Given the description of an element on the screen output the (x, y) to click on. 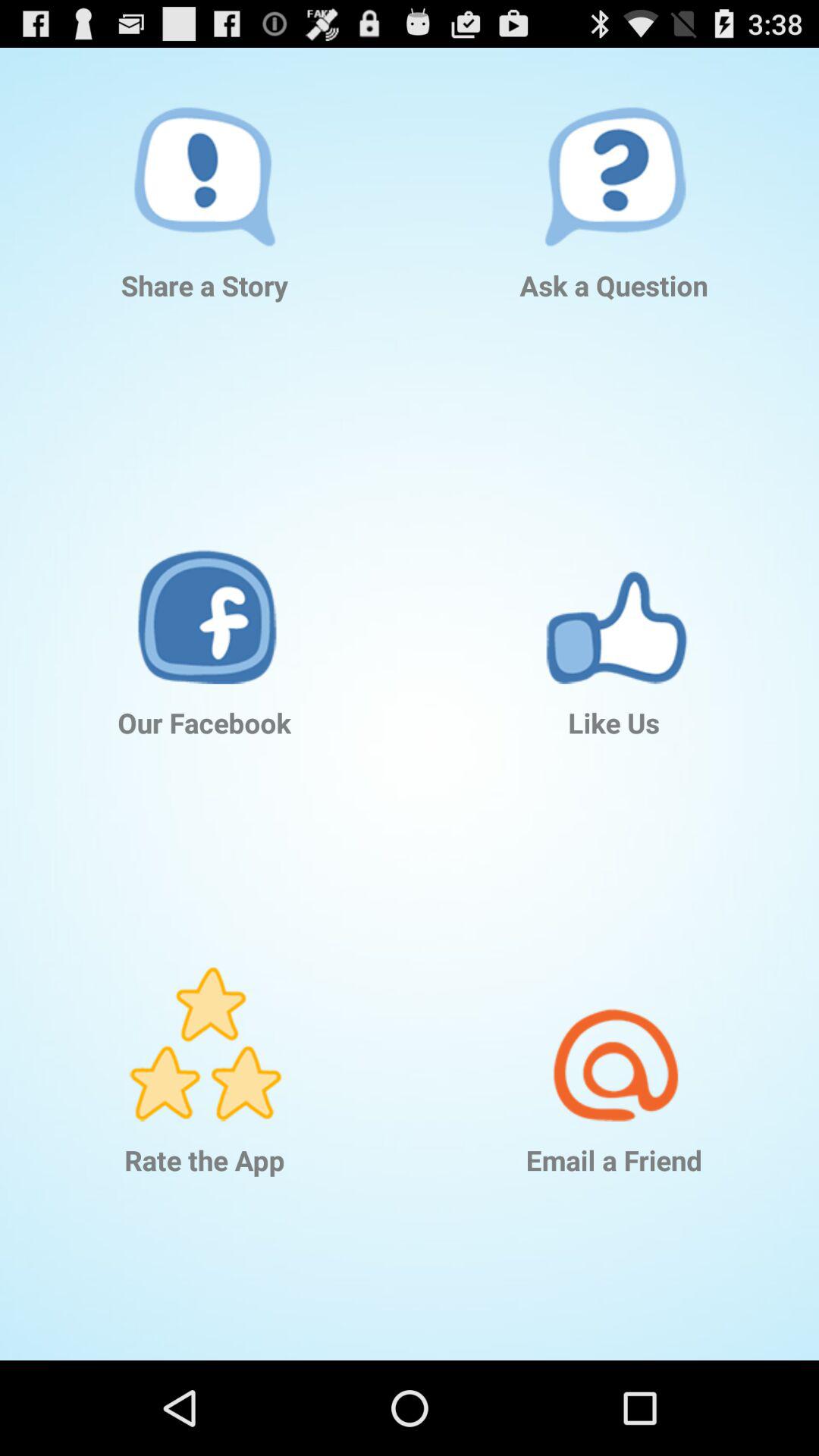
select app below like us icon (613, 1021)
